Given the description of an element on the screen output the (x, y) to click on. 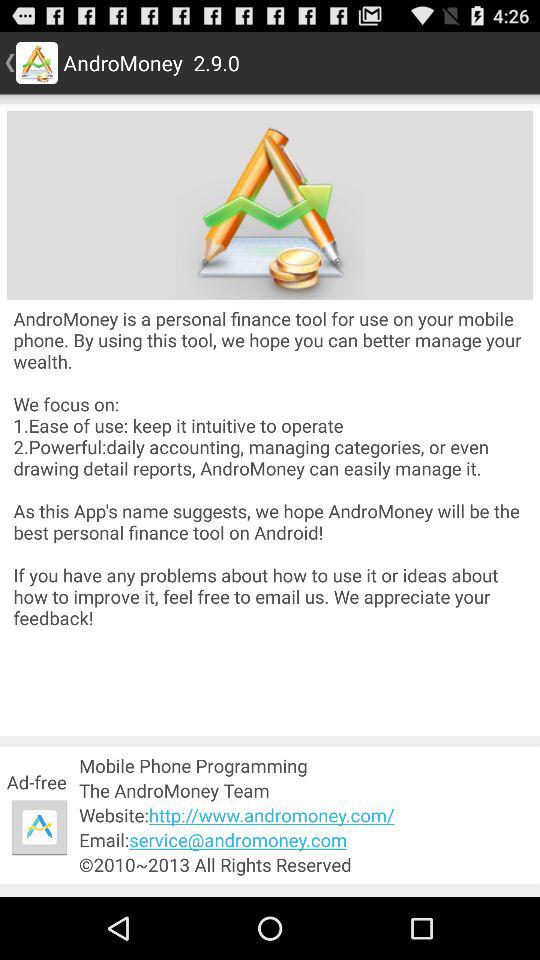
click on the icon bottom left corner (39, 827)
click on the website address (305, 815)
